Given the description of an element on the screen output the (x, y) to click on. 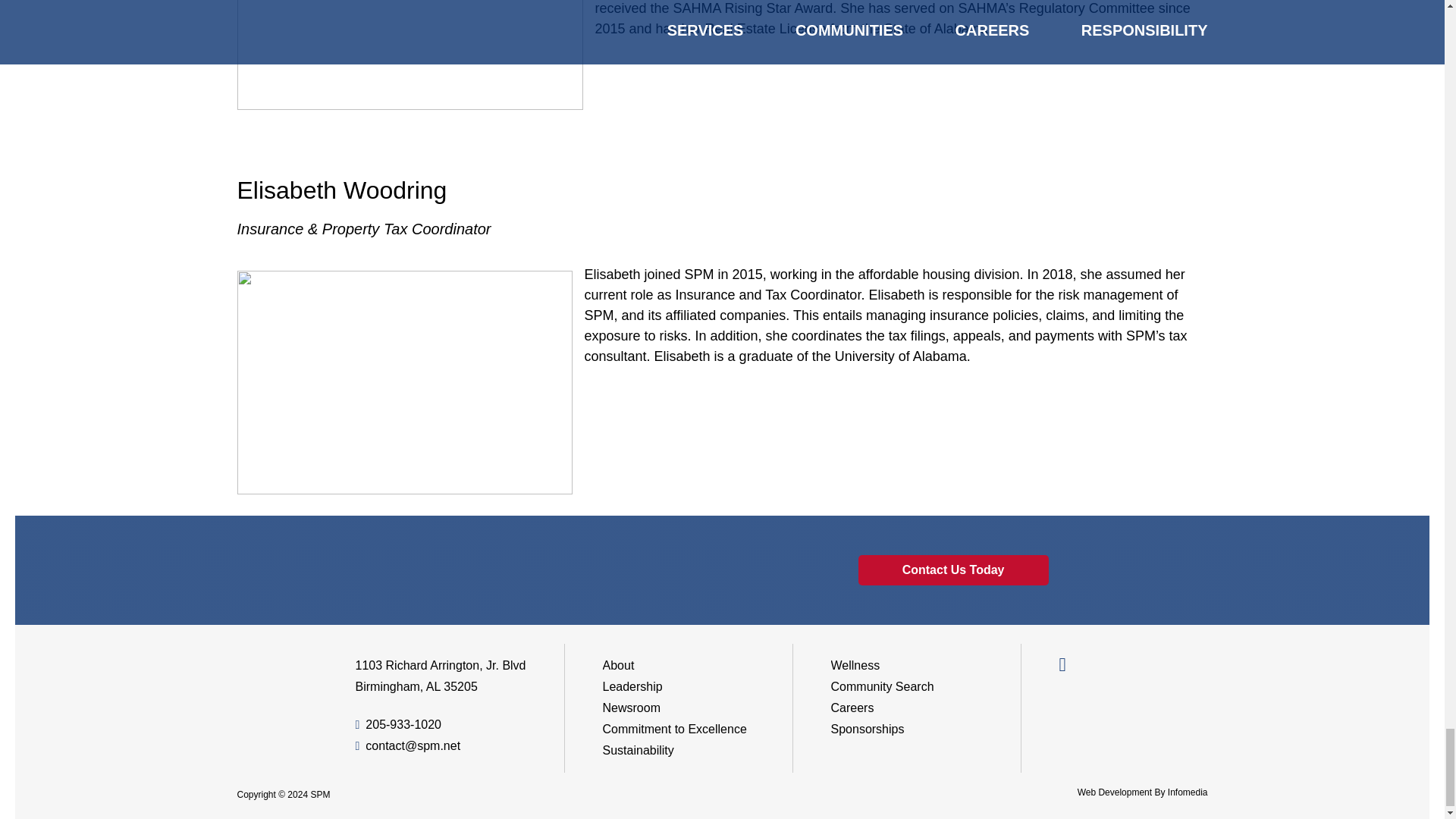
Contact Us Today (953, 570)
Careers (853, 707)
205-933-1020 (398, 724)
Sponsorships (867, 728)
Newsroom (631, 707)
Commitment to Excellence (674, 728)
SPM (320, 794)
Leadership (632, 686)
Wellness (855, 665)
Community Search (882, 686)
Sustainability (638, 749)
SPM (274, 681)
Infomedia (1187, 792)
About (618, 665)
